Given the description of an element on the screen output the (x, y) to click on. 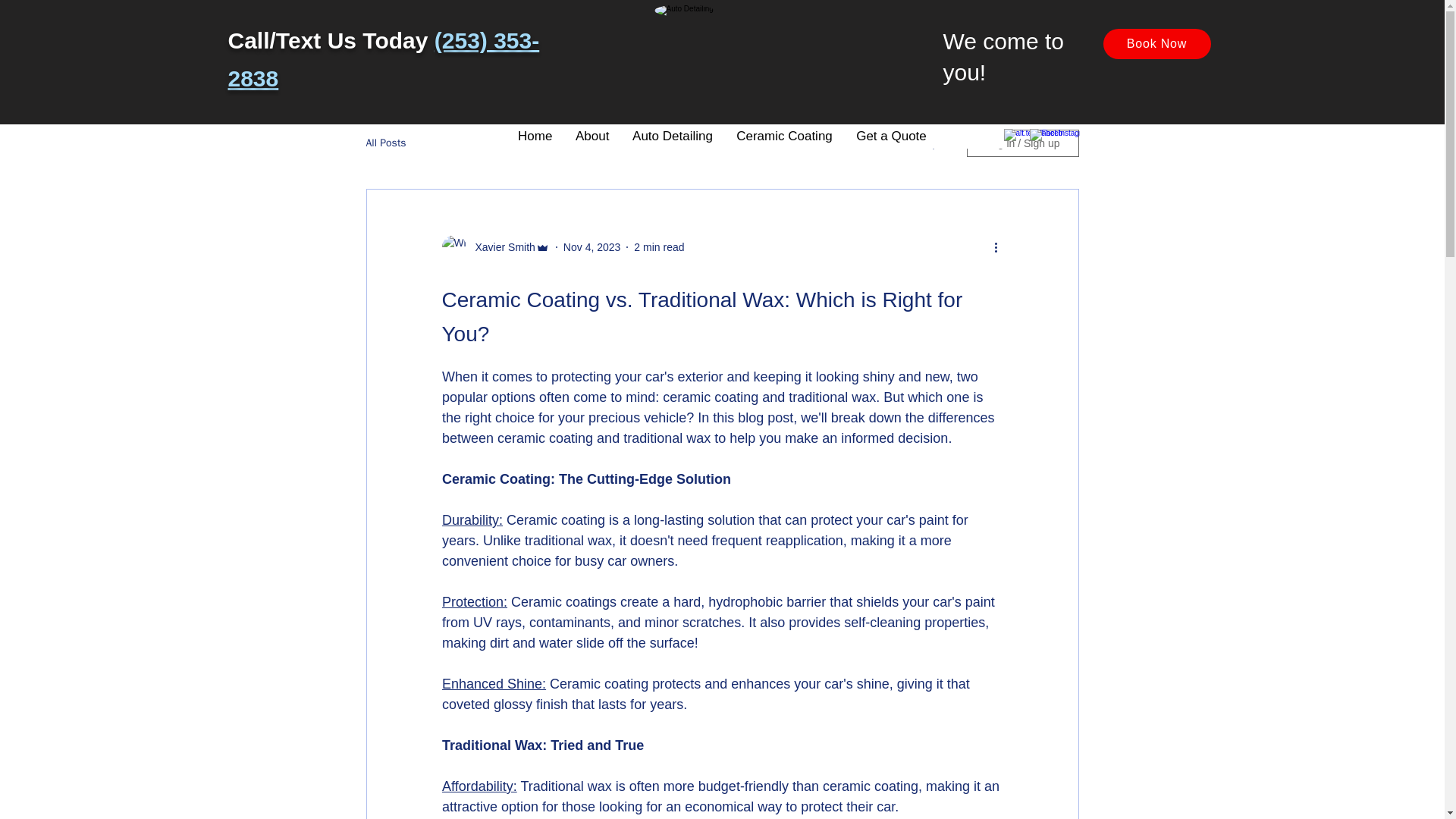
2 min read (658, 246)
All Posts (385, 142)
Auto Detailing (671, 136)
Home (534, 136)
Get a Quote (890, 136)
Ceramic Coating (783, 136)
Book Now (1155, 43)
Nov 4, 2023 (592, 246)
Xavier Smith (499, 247)
About (591, 136)
